Given the description of an element on the screen output the (x, y) to click on. 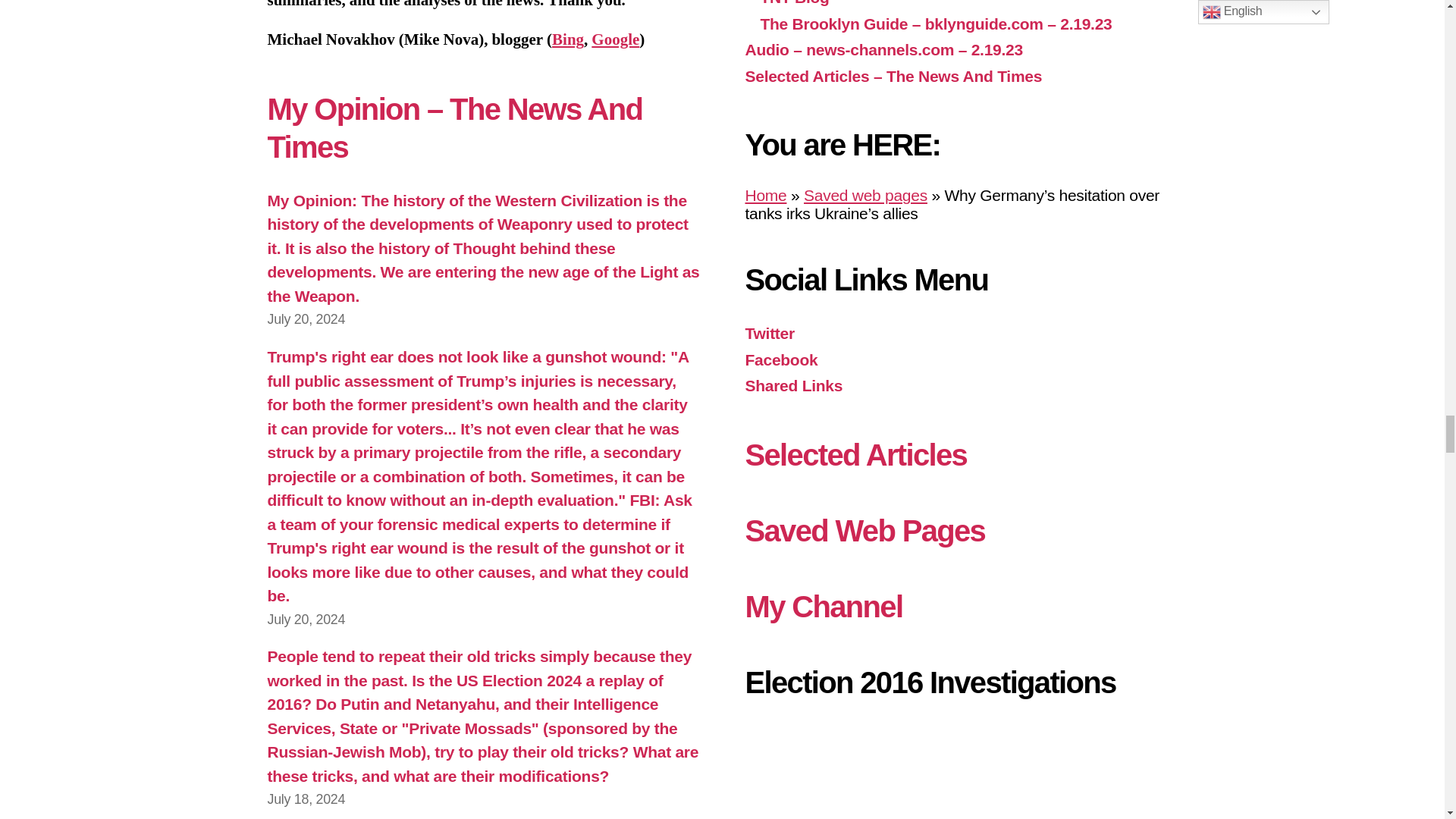
Home (765, 194)
Saved web pages (865, 194)
YouTube video player (960, 771)
